Given the description of an element on the screen output the (x, y) to click on. 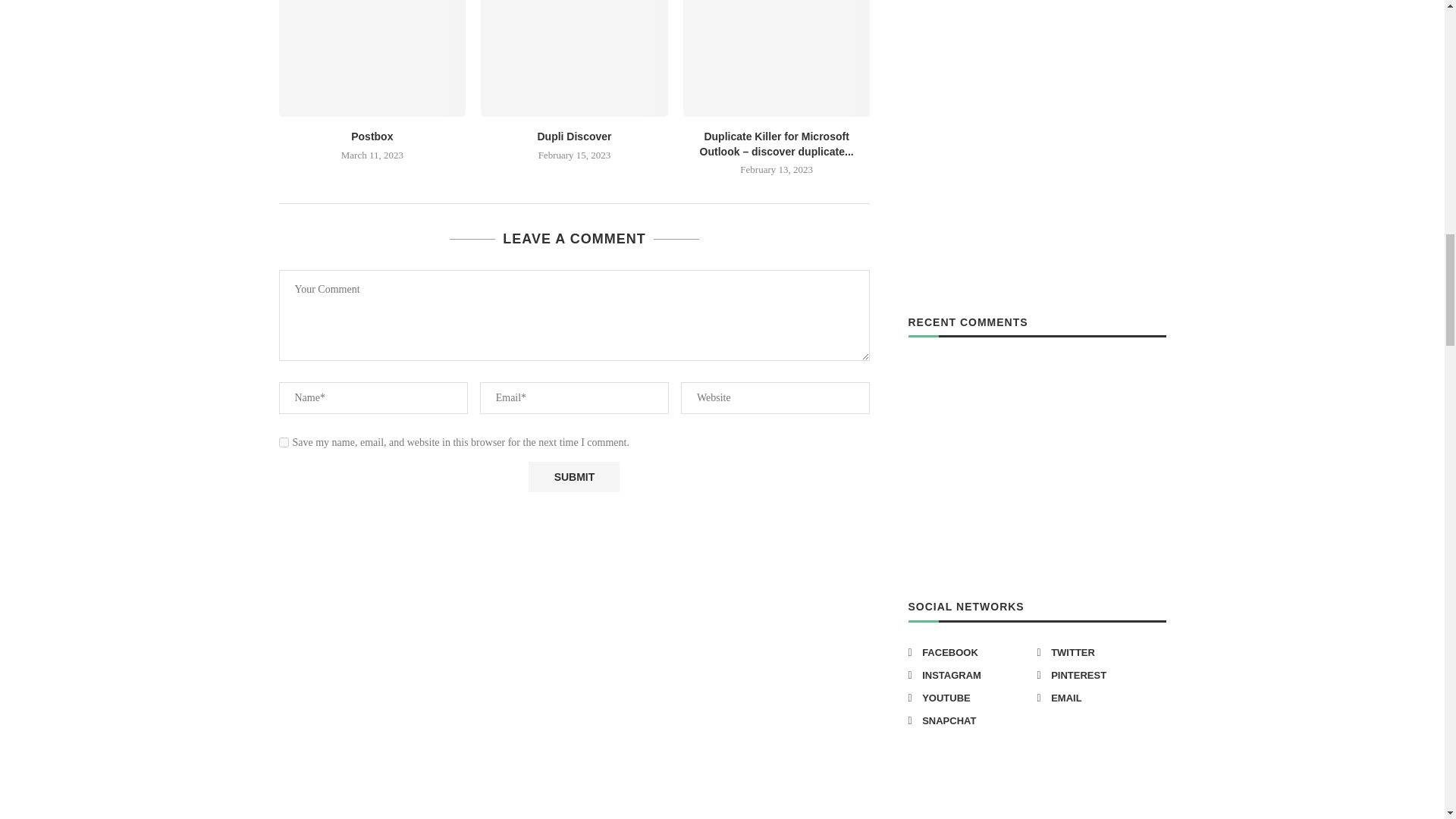
Postbox (372, 58)
Submit (574, 476)
yes (283, 442)
Dupli Discover (574, 58)
